Given the description of an element on the screen output the (x, y) to click on. 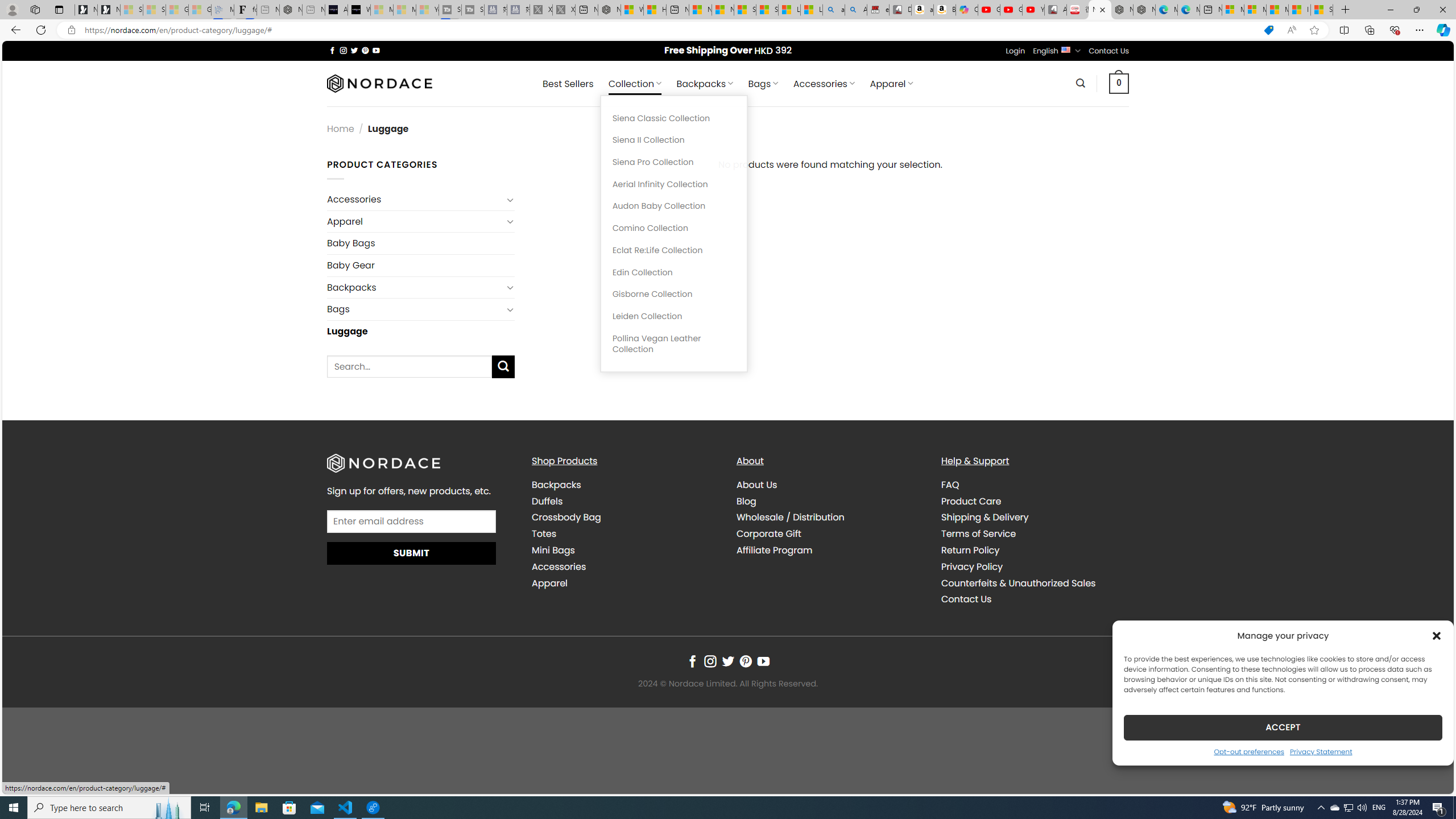
Microsoft Start (1276, 9)
X - Sleeping (563, 9)
Nordace - #1 Japanese Best-Seller - Siena Smart Backpack (291, 9)
Blog (746, 500)
Duffels (625, 501)
This site has coupons! Shopping in Microsoft Edge (1268, 29)
Eclat Re:Life Collection (672, 250)
Return Policy (970, 550)
Gloom - YouTube (1010, 9)
Counterfeits & Unauthorized Sales (1034, 583)
Comino Collection (672, 228)
